Given the description of an element on the screen output the (x, y) to click on. 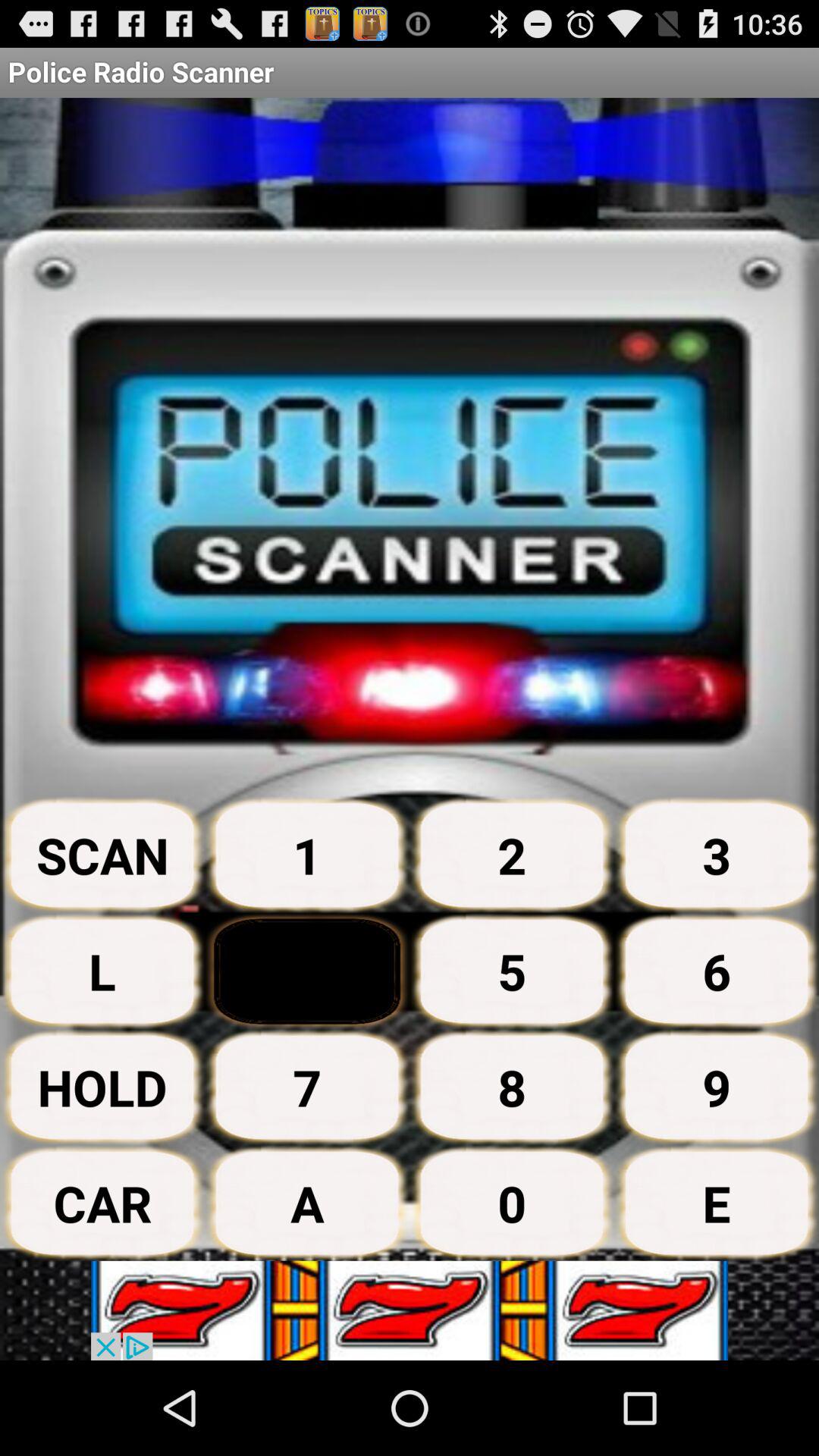
advertisement (409, 1310)
